Given the description of an element on the screen output the (x, y) to click on. 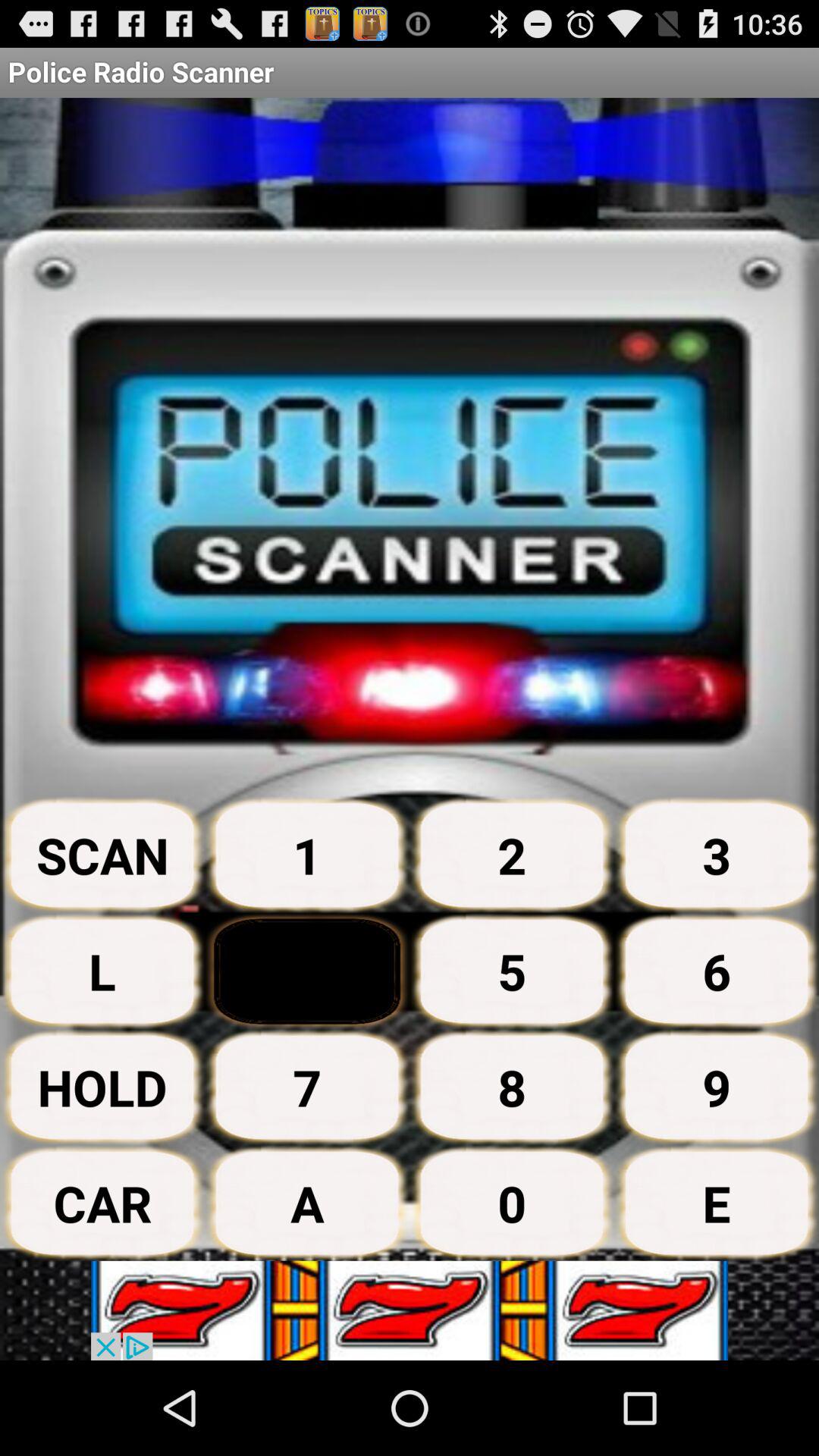
advertisement (409, 1310)
